Given the description of an element on the screen output the (x, y) to click on. 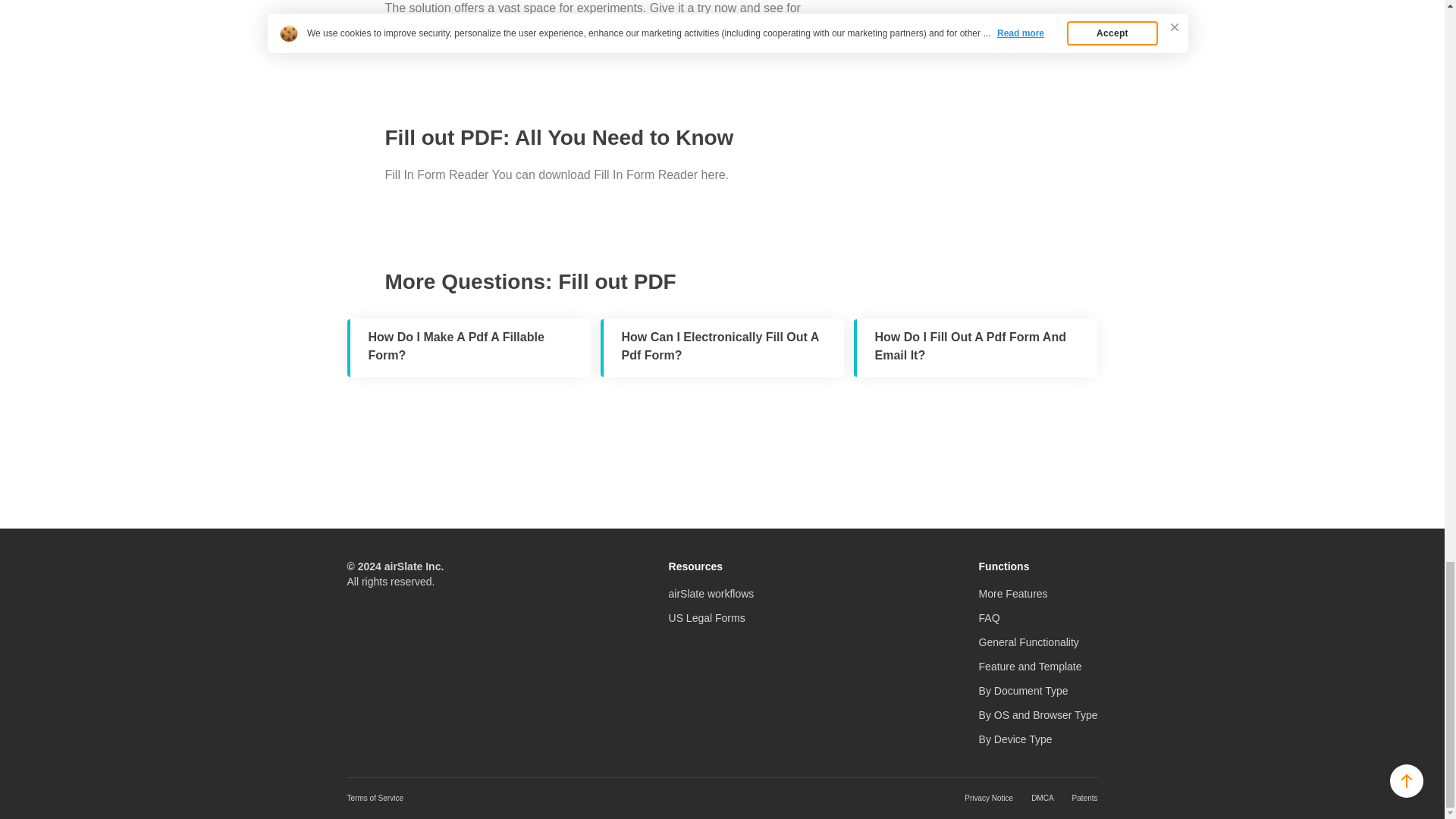
General Functionality (1028, 642)
airSlate workflows (711, 593)
Terms of Service (375, 797)
DMCA (1041, 798)
By Document Type (1023, 690)
How Can I Electronically Fill Out A Pdf Form? (721, 347)
More Features (1013, 593)
How Do I Make A Pdf A Fillable Form? (469, 347)
By OS and Browser Type (1037, 715)
Feature and Template (1029, 666)
How Do I Fill Out A Pdf Form And Email It? (975, 347)
Privacy Notice (988, 798)
By Device Type (1015, 739)
FAQ (989, 617)
US Legal Forms (706, 617)
